Given the description of an element on the screen output the (x, y) to click on. 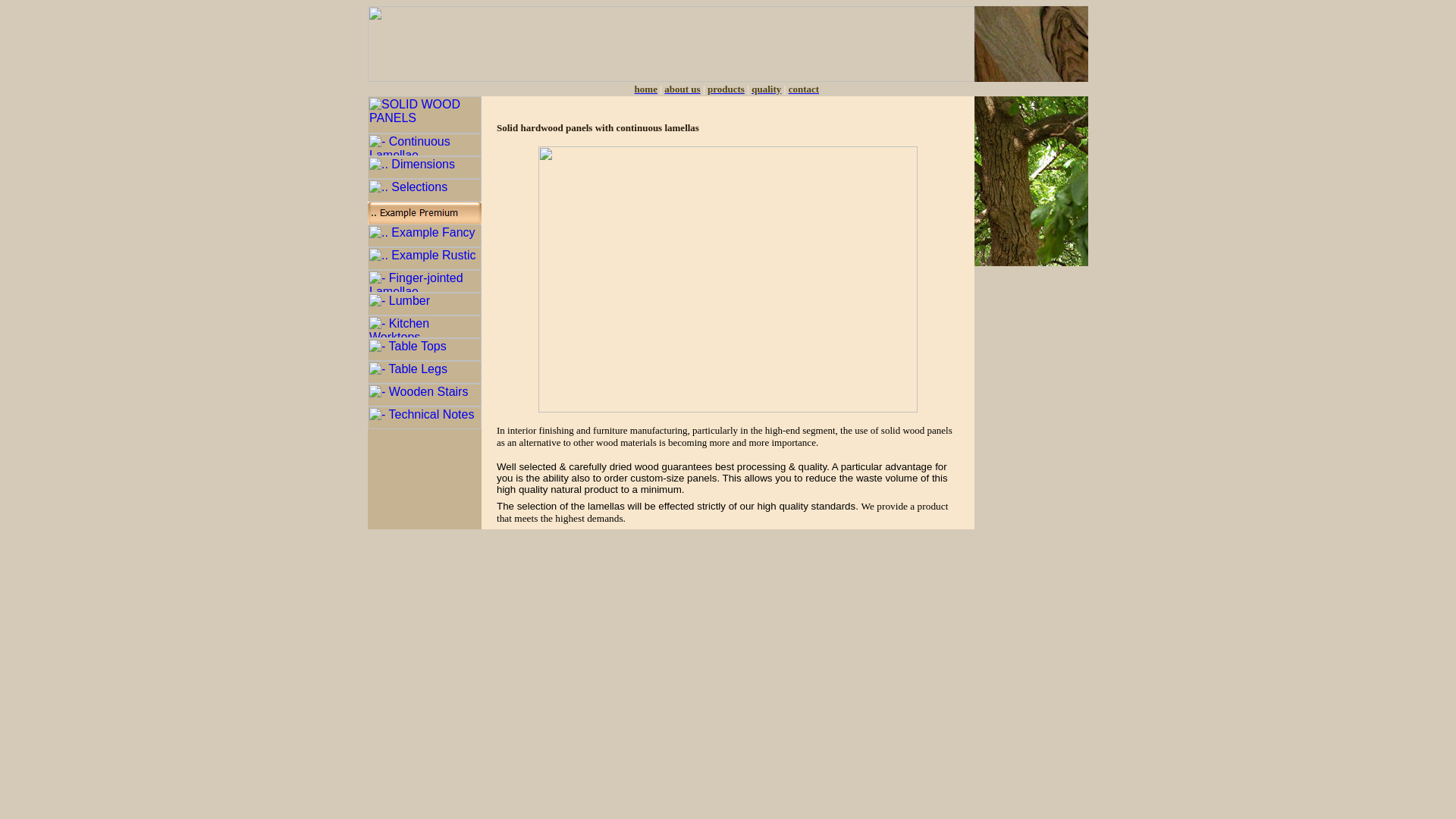
about us (681, 88)
our products (725, 88)
about our company (646, 88)
quality (765, 88)
quality of our products (765, 88)
products (725, 88)
our contact information (803, 88)
contact (803, 88)
about our company (681, 88)
home (646, 88)
